Given the description of an element on the screen output the (x, y) to click on. 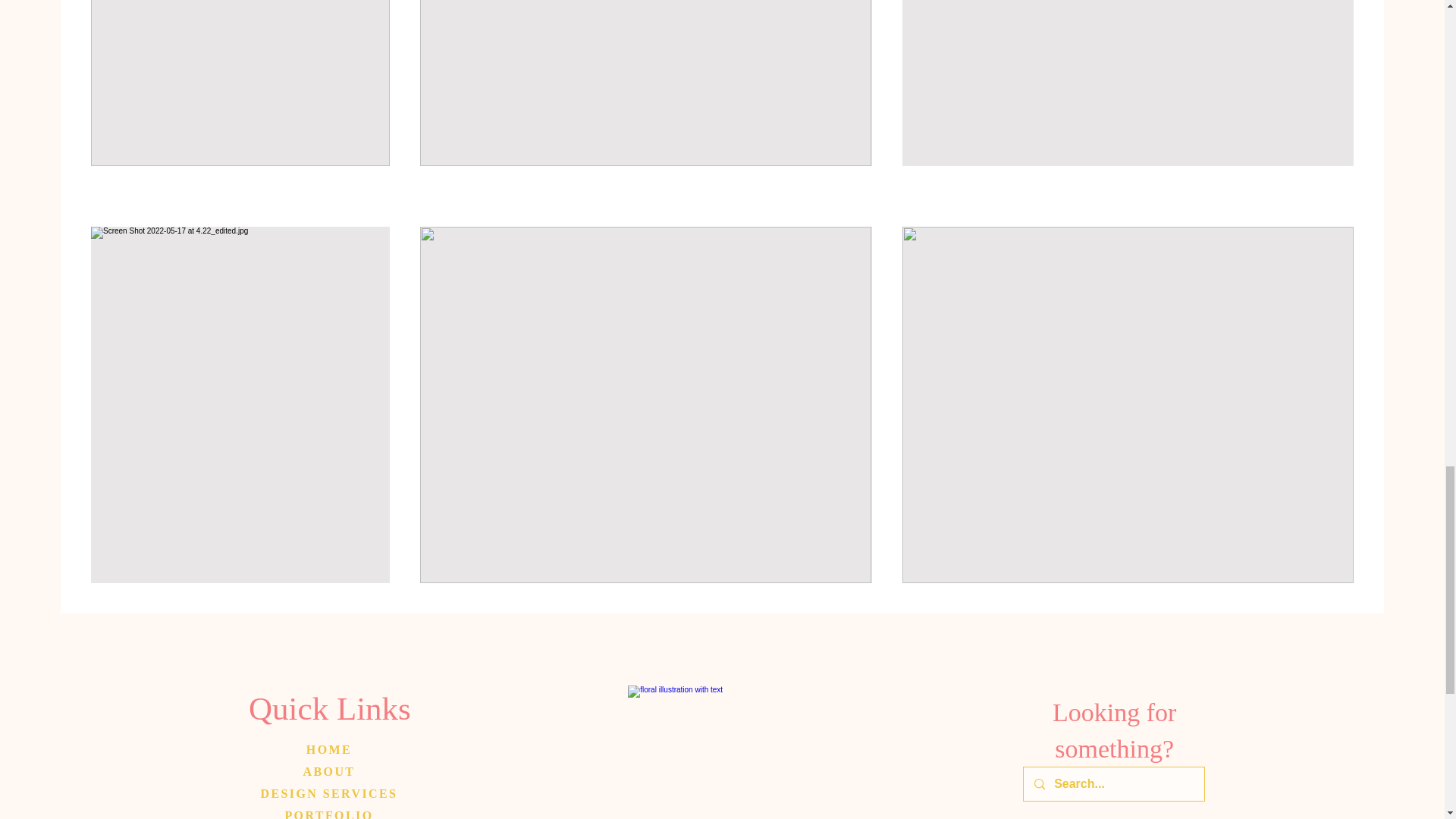
ABOUT (328, 771)
HOME (328, 748)
